Given the description of an element on the screen output the (x, y) to click on. 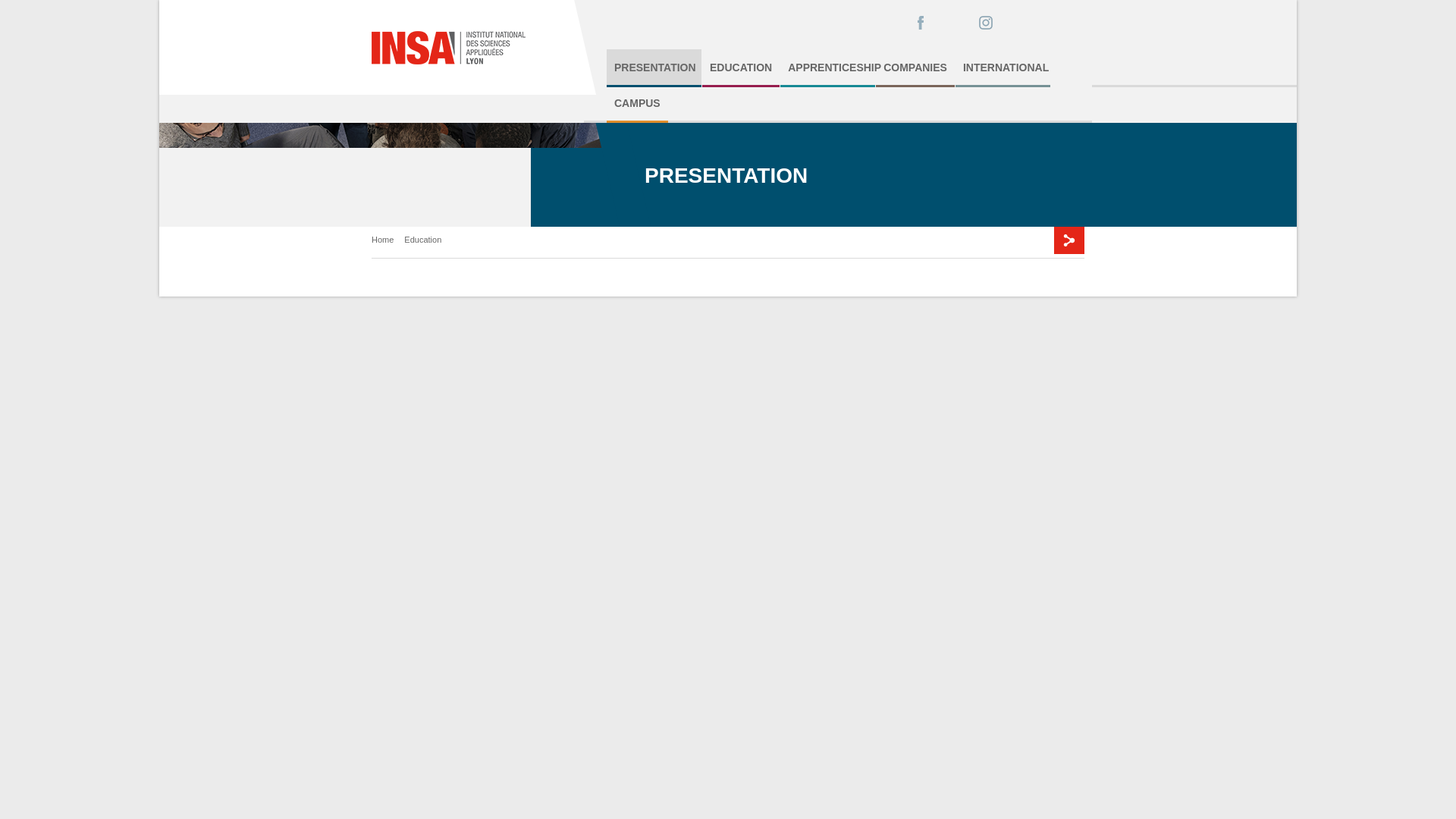
Search (1034, 20)
Companies (915, 67)
twitter (952, 22)
Education (422, 239)
INTERNATIONAL (1002, 67)
International (1002, 67)
Home (382, 239)
facebook (919, 22)
Campus (637, 103)
APPRENTICESHIP (827, 67)
COMPANIES (915, 67)
Home (466, 47)
instagram (985, 22)
EDUCATION (739, 67)
Education (739, 67)
